Given the description of an element on the screen output the (x, y) to click on. 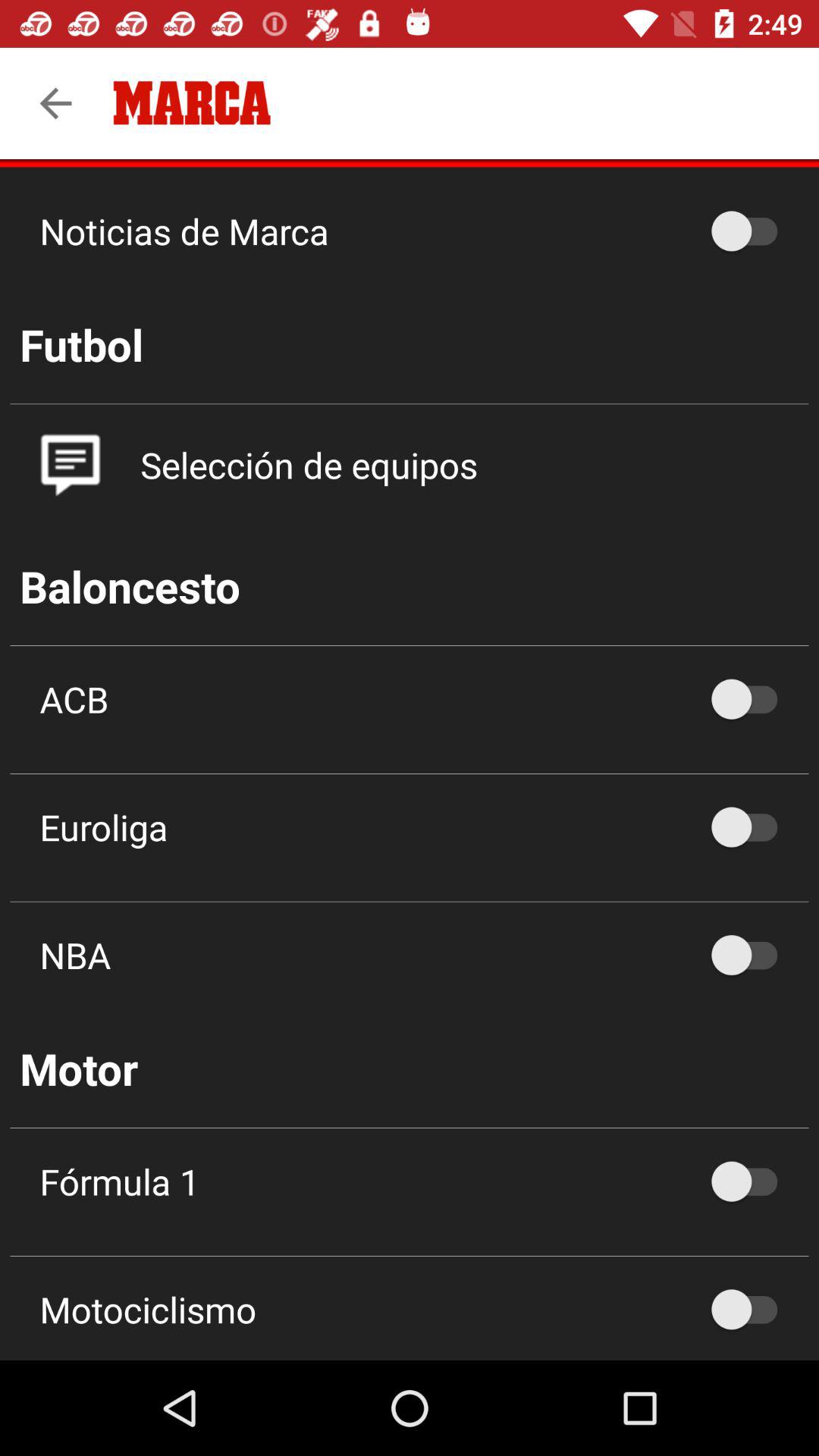
toggle off option (751, 955)
